Given the description of an element on the screen output the (x, y) to click on. 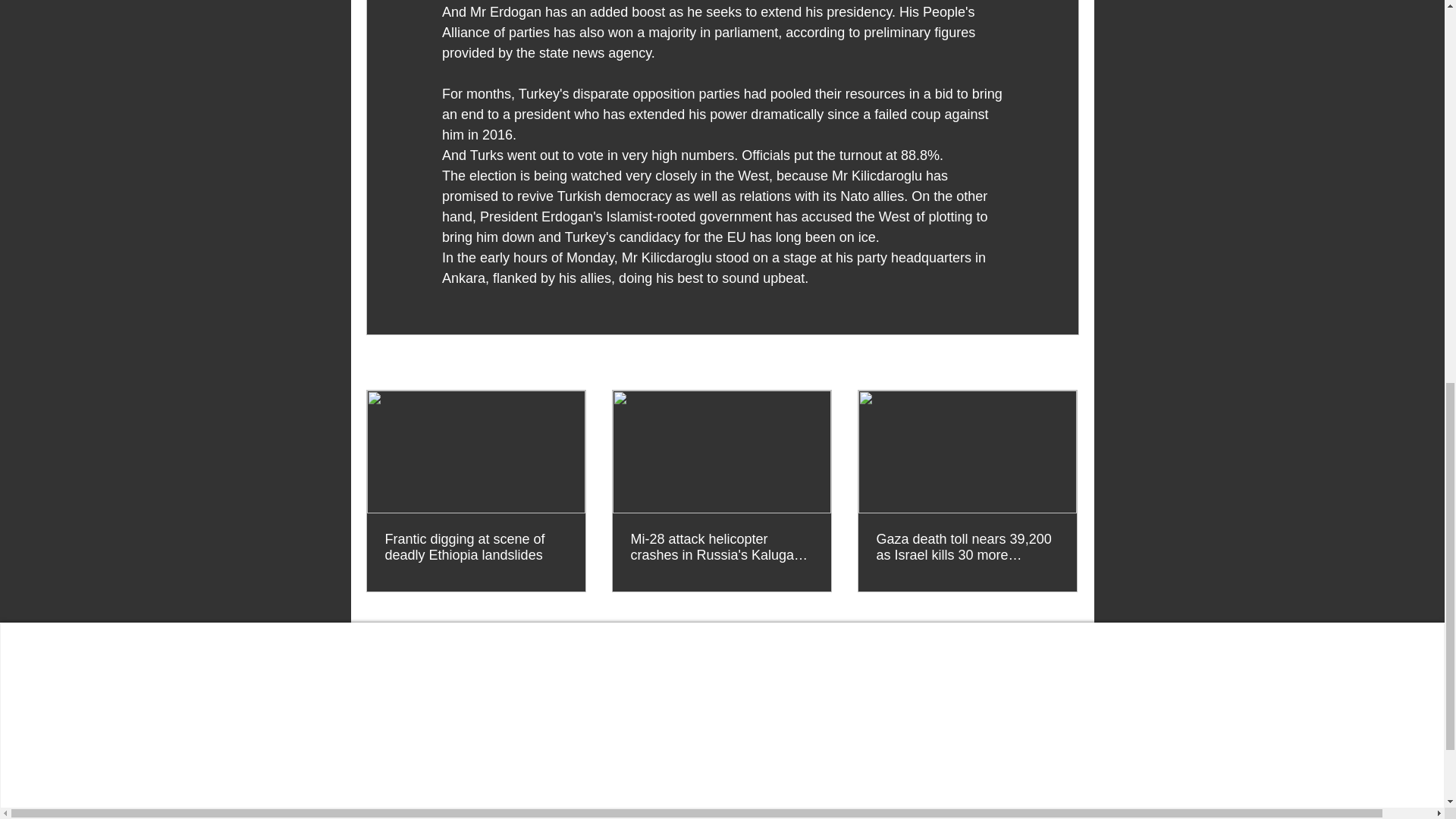
See All (1061, 363)
Mi-28 attack helicopter crashes in Russia's Kaluga region (721, 547)
Frantic digging at scene of deadly Ethiopia landslides (476, 547)
